Given the description of an element on the screen output the (x, y) to click on. 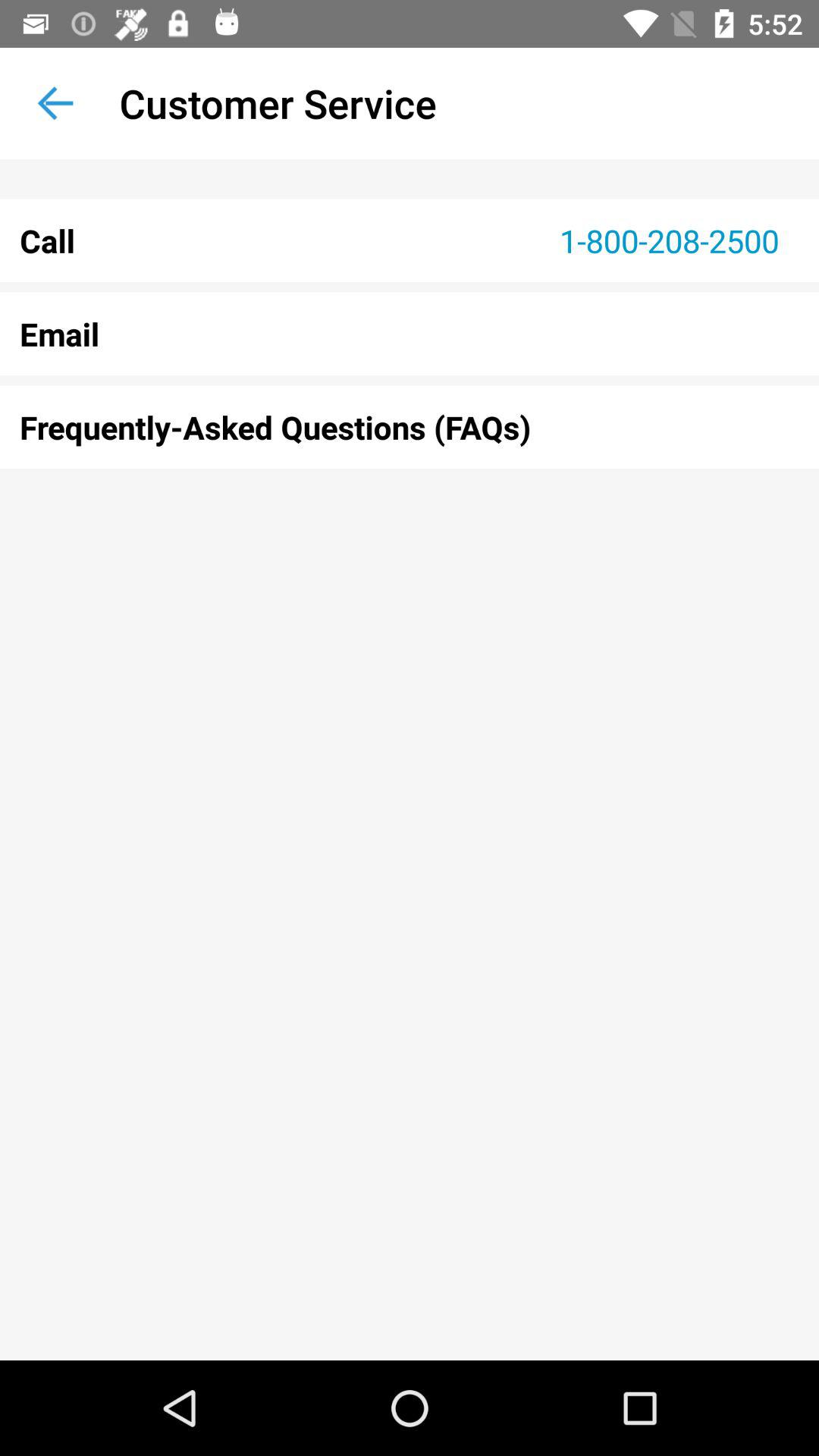
turn off frequently asked questions item (409, 426)
